Given the description of an element on the screen output the (x, y) to click on. 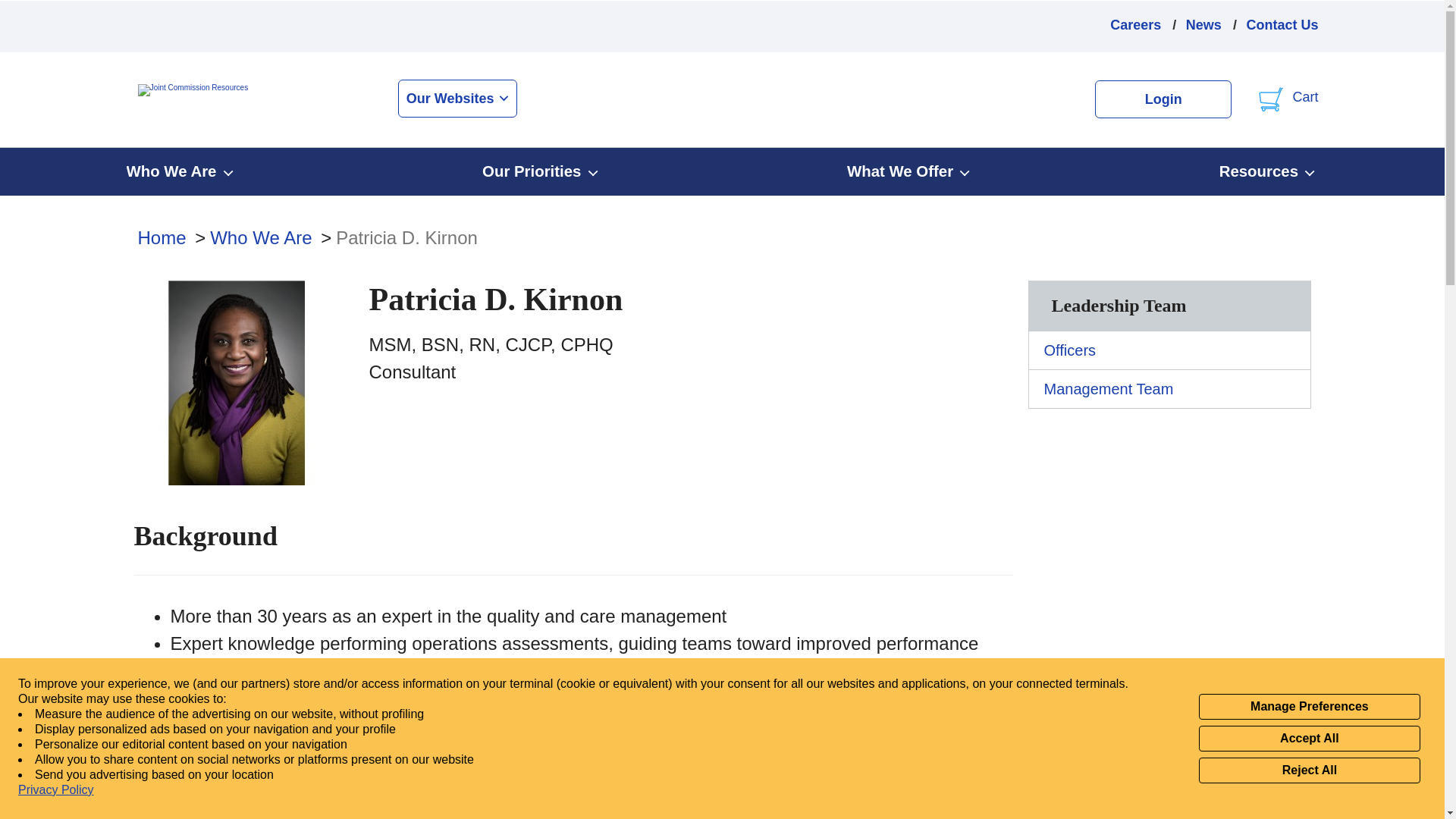
Who We Are (260, 237)
News (1203, 25)
Joint Commission Resources (193, 99)
Who We Are (180, 171)
Manage Preferences (1309, 706)
Patricia D Kirnon (406, 237)
Reject All (1309, 769)
Cart (1287, 98)
Login (1162, 98)
Privacy Policy (55, 789)
Careers (1134, 25)
Our Websites (456, 98)
Accept All (1309, 738)
Joint Commission Resources (224, 99)
Contact Us (1281, 25)
